Given the description of an element on the screen output the (x, y) to click on. 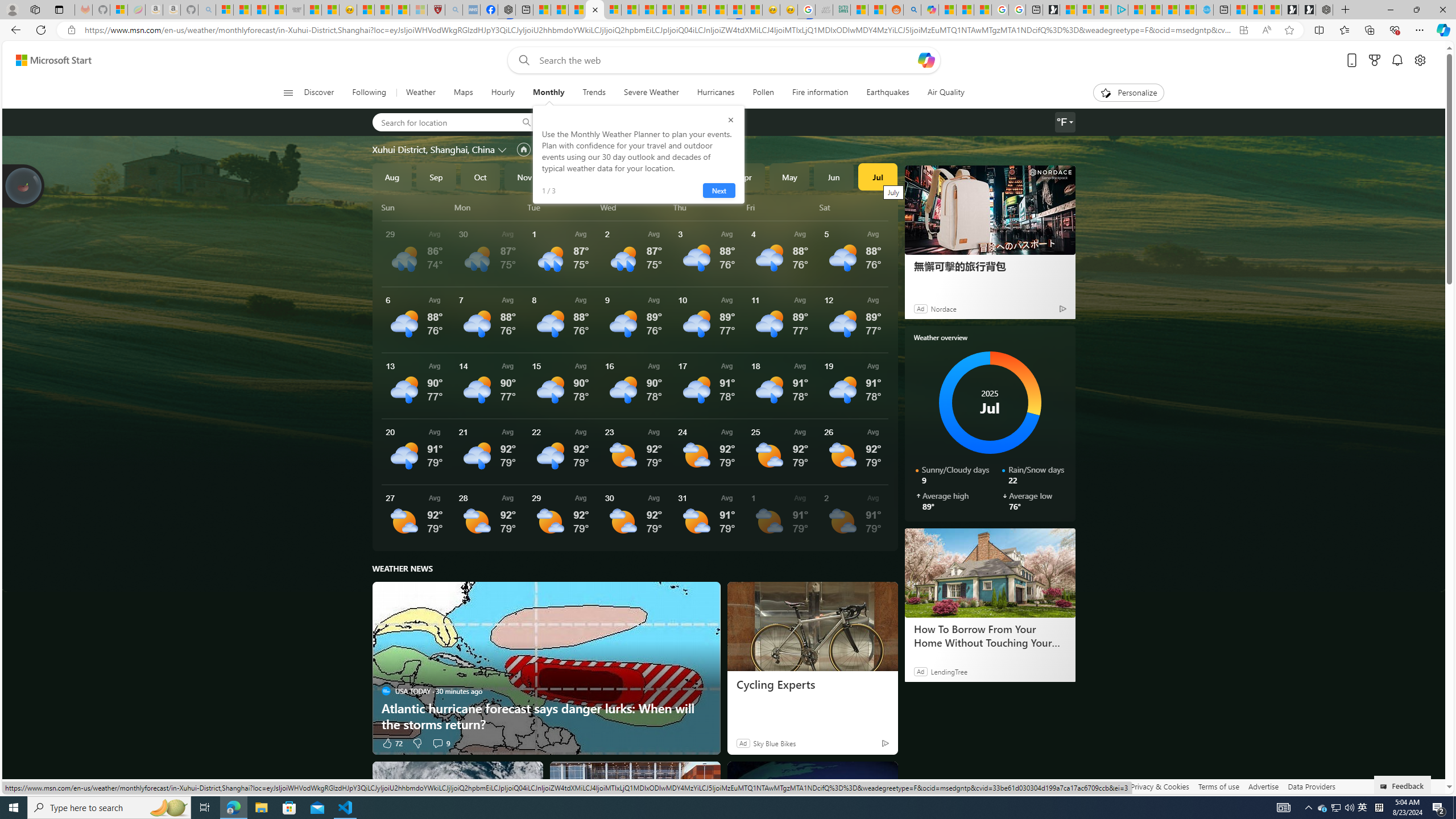
Combat Siege (294, 9)
Wed (634, 207)
See more (884, 774)
MSNBC - MSN (859, 9)
Nov (523, 176)
Hourly (502, 92)
Weather (420, 92)
USA TODAY (385, 690)
Recipes - MSN (366, 9)
Weather (420, 92)
